Given the description of an element on the screen output the (x, y) to click on. 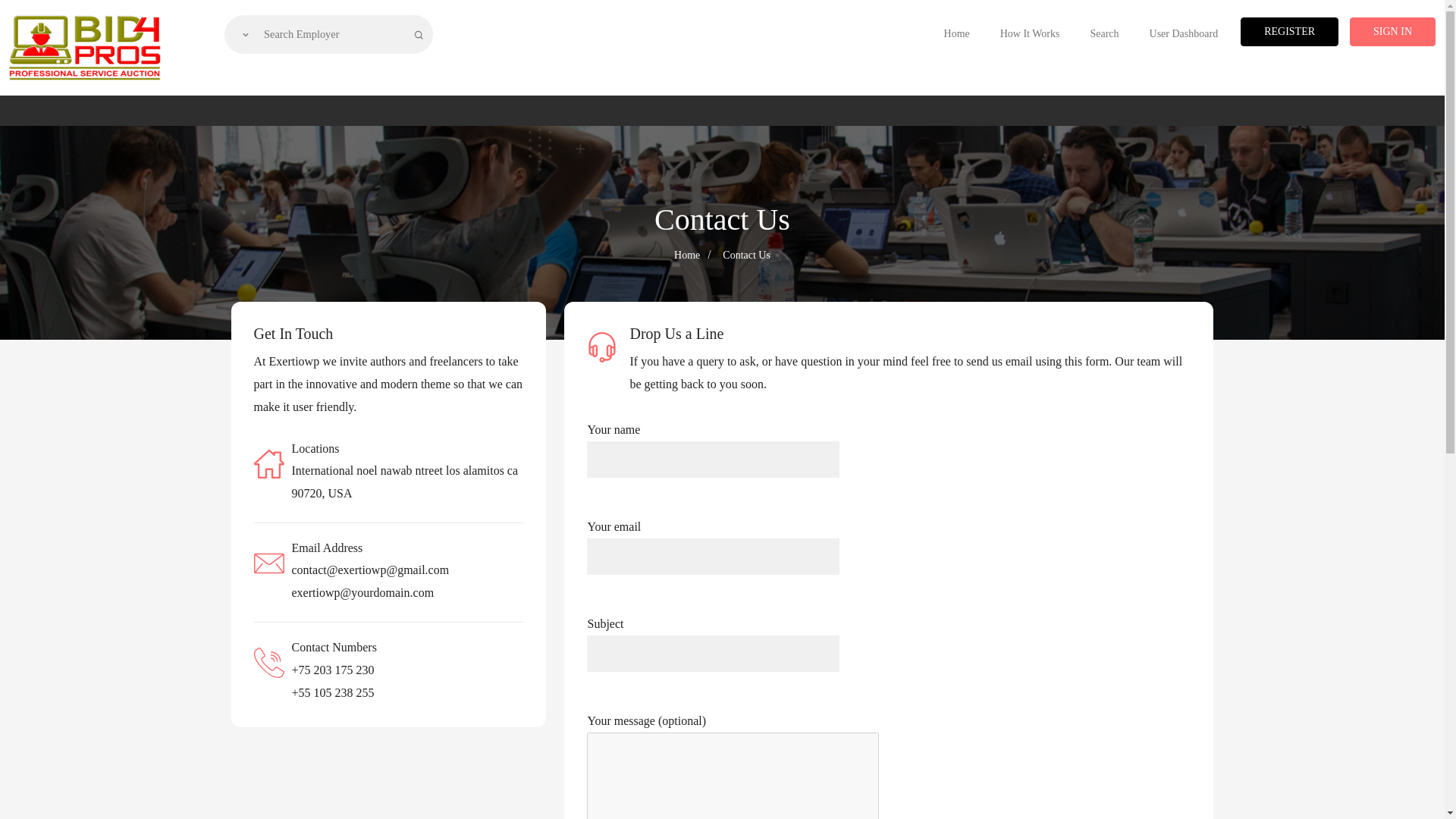
User Dashboard (1183, 33)
Home (687, 255)
SIGN IN (1392, 31)
Contact Us (746, 255)
REGISTER (1289, 31)
How It Works (1030, 33)
